Given the description of an element on the screen output the (x, y) to click on. 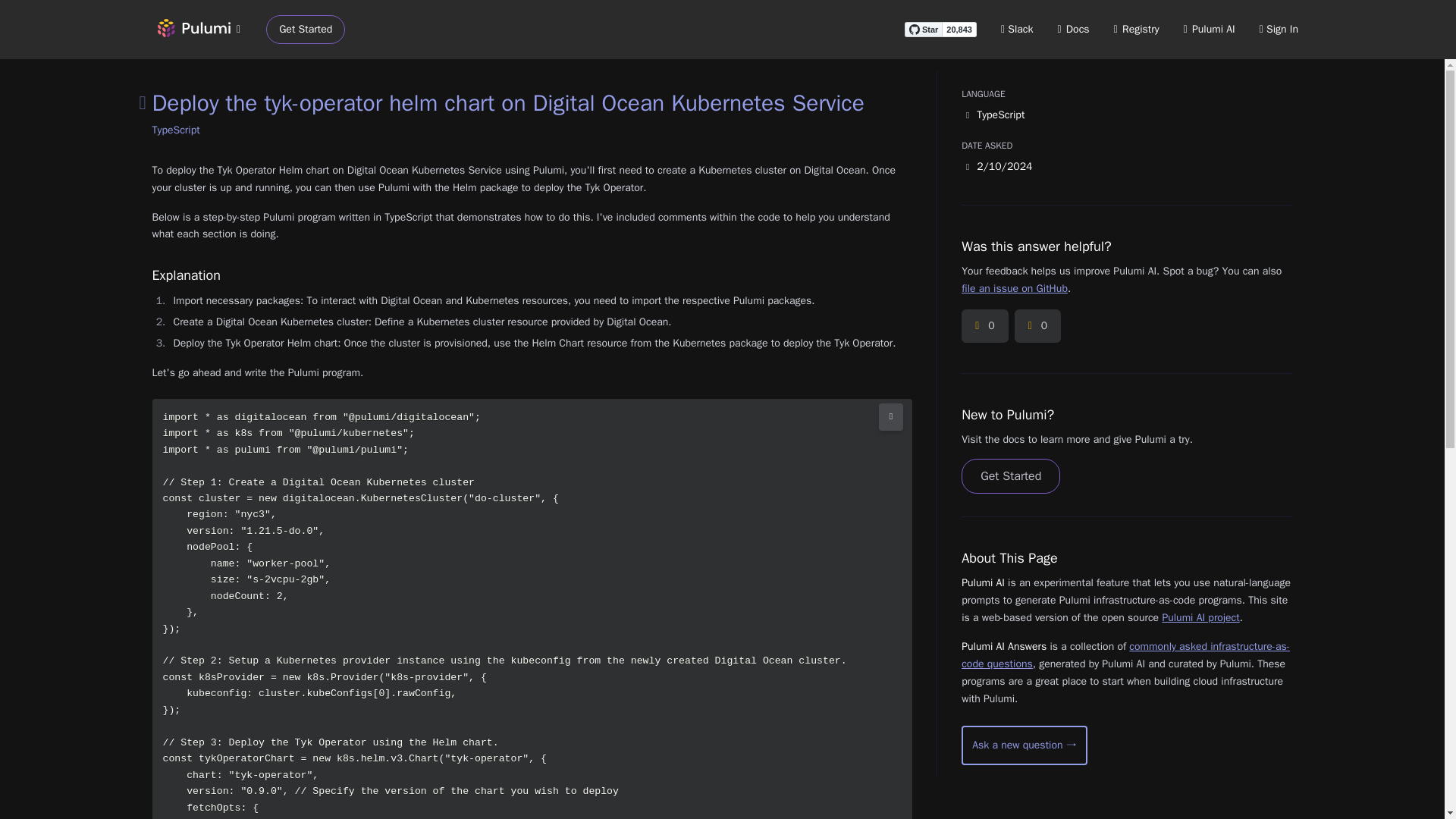
Docs (1073, 29)
20,843 (959, 29)
Get Started (305, 29)
Pulumi AI (1208, 29)
Upvote this answer (984, 326)
Start a new conversation with Pulumi AI (1023, 744)
Downvote this answer (1037, 326)
0 (984, 326)
Sign In (1278, 29)
Slack (1017, 29)
